Given the description of an element on the screen output the (x, y) to click on. 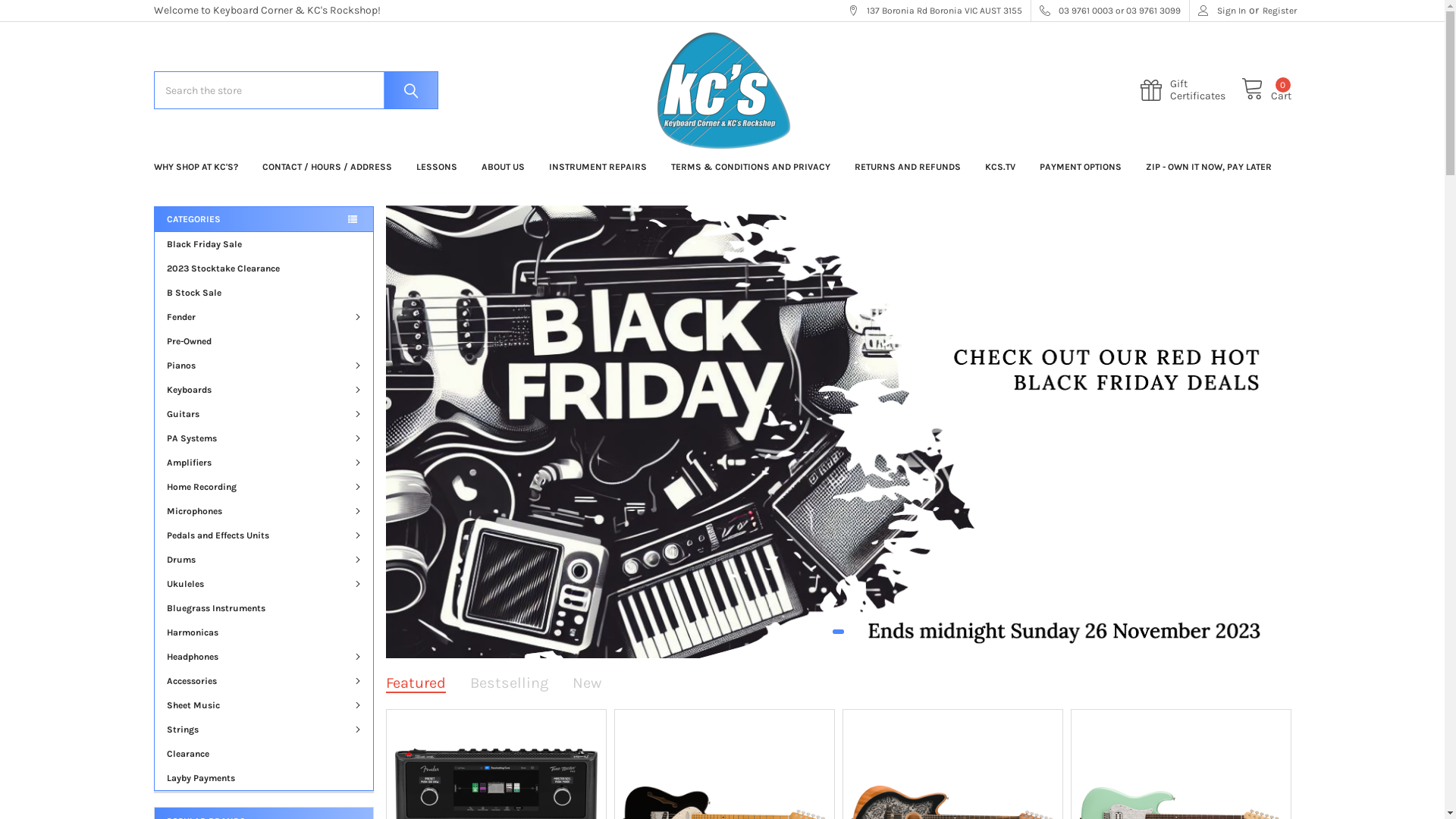
Harmonicas Element type: text (263, 632)
Home Recording Element type: text (263, 486)
Keyboards Element type: text (263, 389)
Featured Element type: text (415, 682)
CATEGORIES Element type: text (263, 219)
PA Systems Element type: text (263, 438)
03 9761 0003 or 03 9761 3099 Element type: text (1110, 10)
Search Element type: text (407, 90)
Register Element type: text (1278, 10)
New Element type: text (586, 682)
Pedals and Effects Units Element type: text (263, 535)
ZIP - OWN IT NOW, PAY LATER Element type: text (1207, 166)
RETURNS AND REFUNDS Element type: text (906, 166)
Microphones Element type: text (263, 510)
2023 Stocktake Clearance Element type: text (263, 268)
Accessories Element type: text (263, 680)
Pre-Owned Element type: text (263, 341)
ABOUT US Element type: text (502, 166)
Keyboard Corner & KC's Rockshop Element type: hover (722, 90)
Drums Element type: text (263, 559)
Guitars Element type: text (263, 413)
Sheet Music Element type: text (263, 705)
CONTACT / HOURS / ADDRESS Element type: text (327, 166)
Strings Element type: text (263, 729)
INSTRUMENT REPAIRS Element type: text (597, 166)
Headphones Element type: text (263, 656)
Ukuleles Element type: text (263, 583)
Pianos Element type: text (263, 365)
PAYMENT OPTIONS Element type: text (1079, 166)
TERMS & CONDITIONS AND PRIVACY Element type: text (749, 166)
Cart
0 Element type: text (1266, 90)
Layby Payments Element type: text (263, 777)
1 Element type: text (838, 631)
Sign In Element type: text (1221, 10)
LESSONS Element type: text (435, 166)
Black Friday Sale Element type: text (263, 244)
WHY SHOP AT KC'S? Element type: text (195, 166)
Amplifiers Element type: text (263, 462)
B Stock Sale Element type: text (263, 292)
KCS.TV Element type: text (999, 166)
Bluegrass Instruments Element type: text (263, 608)
Fender Element type: text (263, 316)
Bestselling Element type: text (509, 682)
Gift
Certificates Element type: text (1190, 90)
Clearance Element type: text (263, 753)
